Given the description of an element on the screen output the (x, y) to click on. 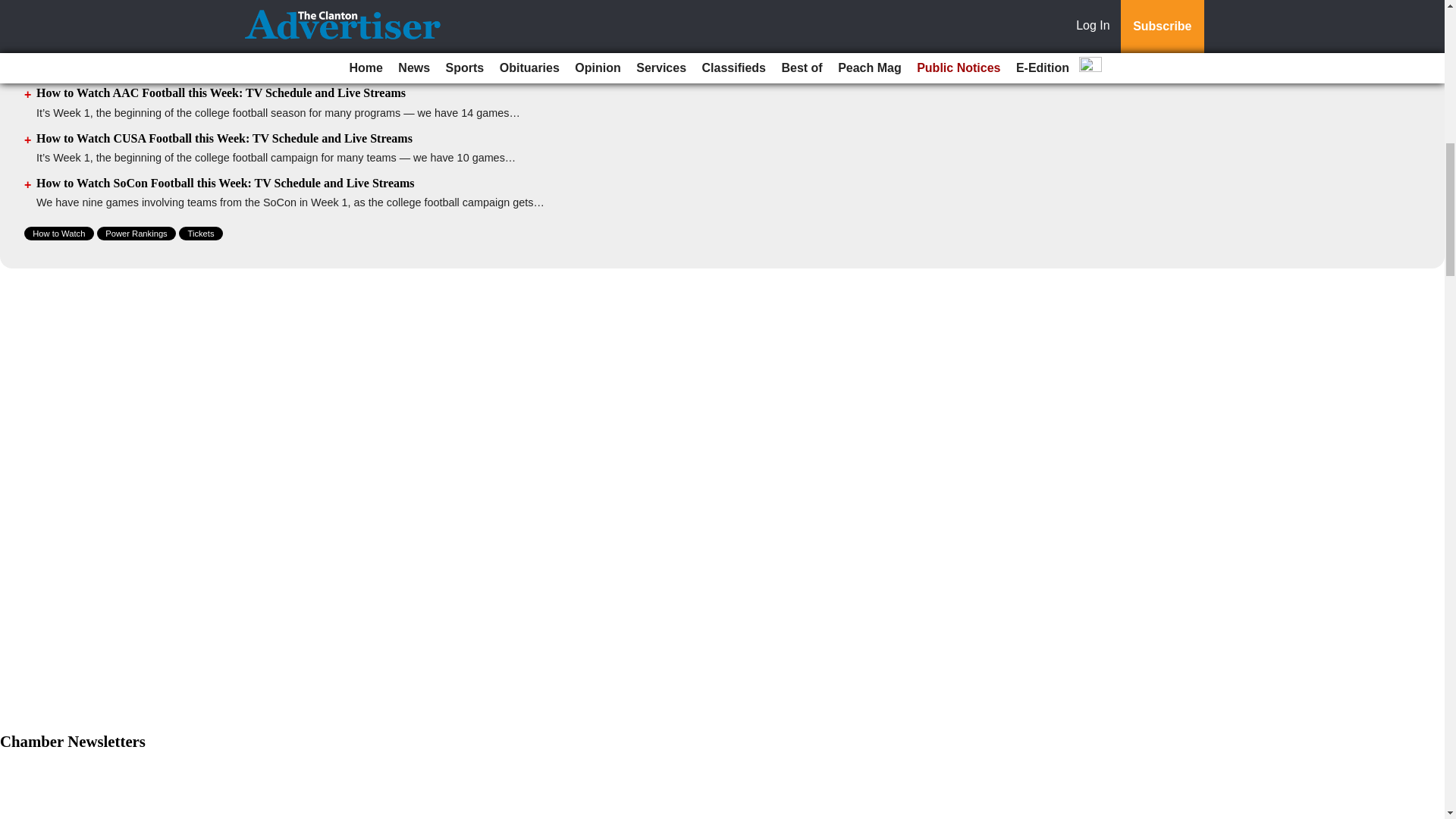
Tickets (200, 233)
Power Rankings (136, 233)
How to Watch (59, 233)
